Given the description of an element on the screen output the (x, y) to click on. 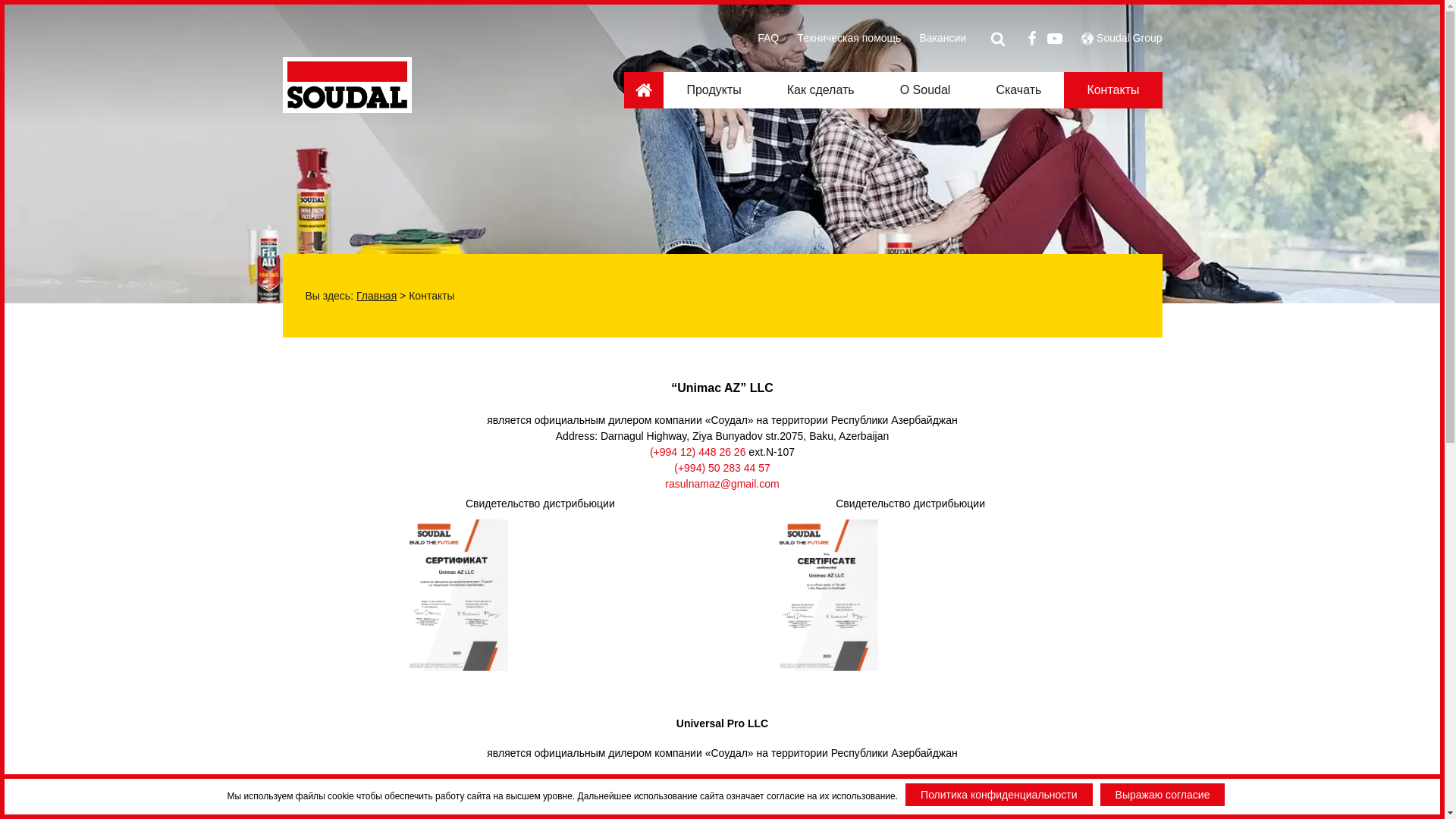
(+994 12) 448 26 26 Element type: text (697, 451)
Soudal Group Element type: text (1128, 38)
(+994) 50 283 44 57 Element type: text (722, 467)
FAQ Element type: text (767, 37)
rasulnamaz@gmail.com Element type: text (721, 483)
